Given the description of an element on the screen output the (x, y) to click on. 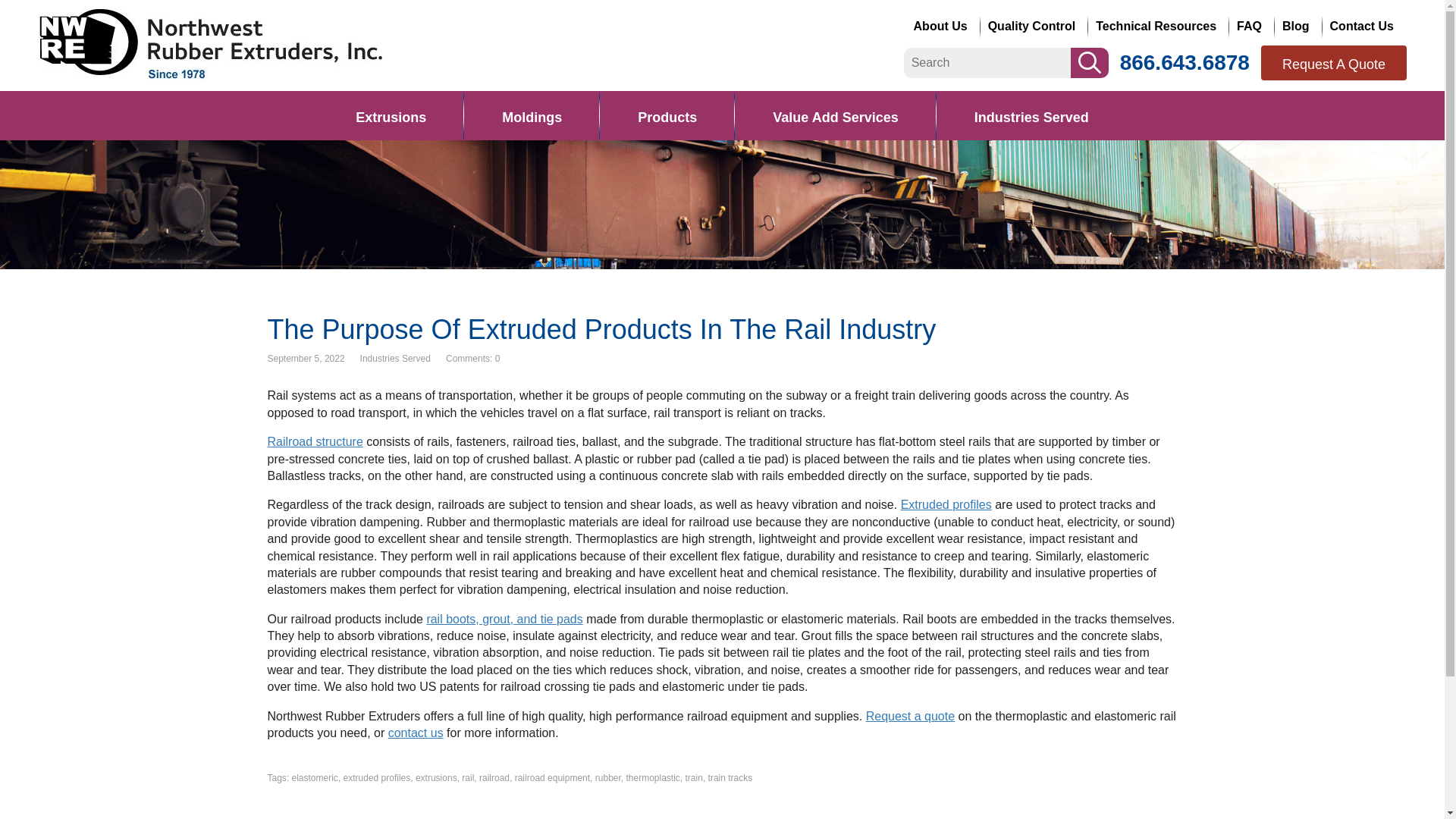
Moldings (531, 115)
Value Add Services (835, 115)
About Us (942, 26)
Request A Quote (1333, 62)
Quality Control (1034, 26)
FAQ (1251, 26)
Technical Resources (1157, 26)
866.643.6878 (1184, 62)
Extrusions (390, 115)
Search (1089, 61)
